Given the description of an element on the screen output the (x, y) to click on. 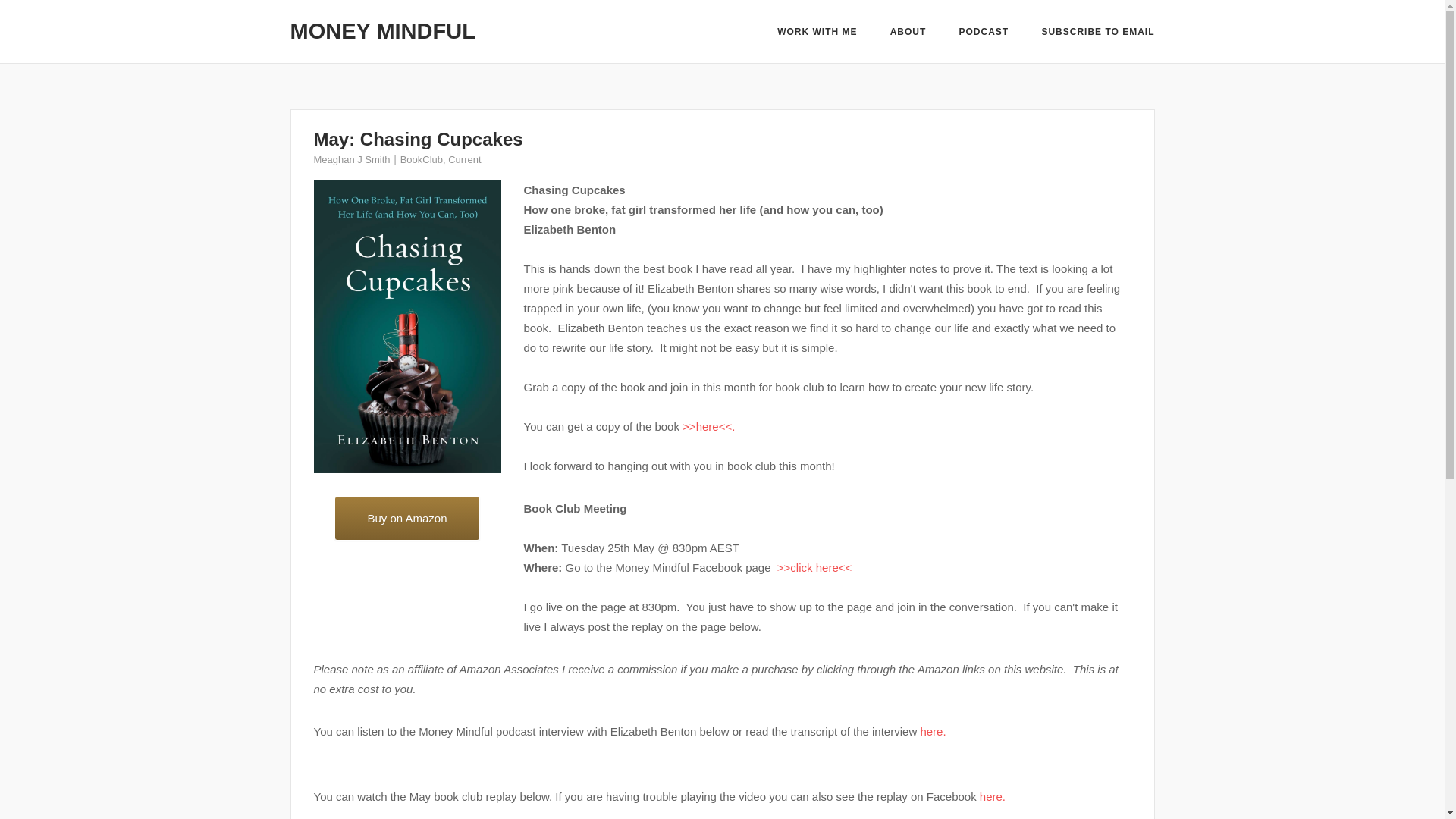
WORK WITH ME (817, 33)
SUBSCRIBE TO EMAIL (1097, 33)
here. (932, 730)
PODCAST (984, 32)
May: Chasing Cupcakes (418, 138)
ABOUT (907, 32)
Meaghan J Smith (352, 159)
here. (992, 796)
MONEY MINDFUL (381, 30)
Current (464, 159)
BookClub (421, 159)
Buy on Amazon (406, 518)
